Given the description of an element on the screen output the (x, y) to click on. 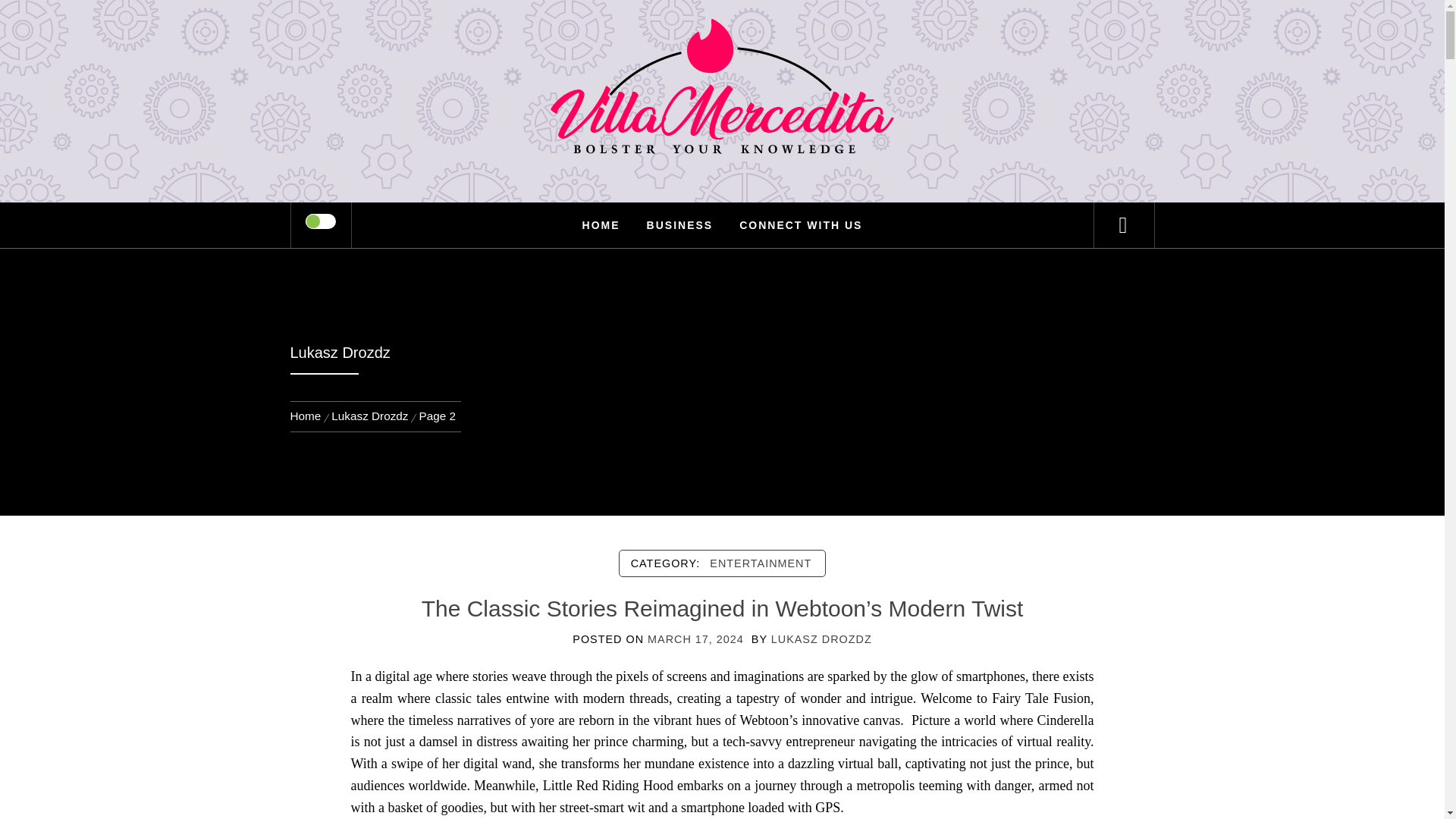
Lukasz Drozdz (369, 415)
ENTERTAINMENT (759, 563)
BUSINESS (679, 225)
MARCH 17, 2024 (695, 639)
LUKASZ DROZDZ (821, 639)
HOME (600, 225)
Search (797, 33)
Home (307, 415)
CONNECT WITH US (800, 225)
VILLA MERCEDITA (722, 61)
